Given the description of an element on the screen output the (x, y) to click on. 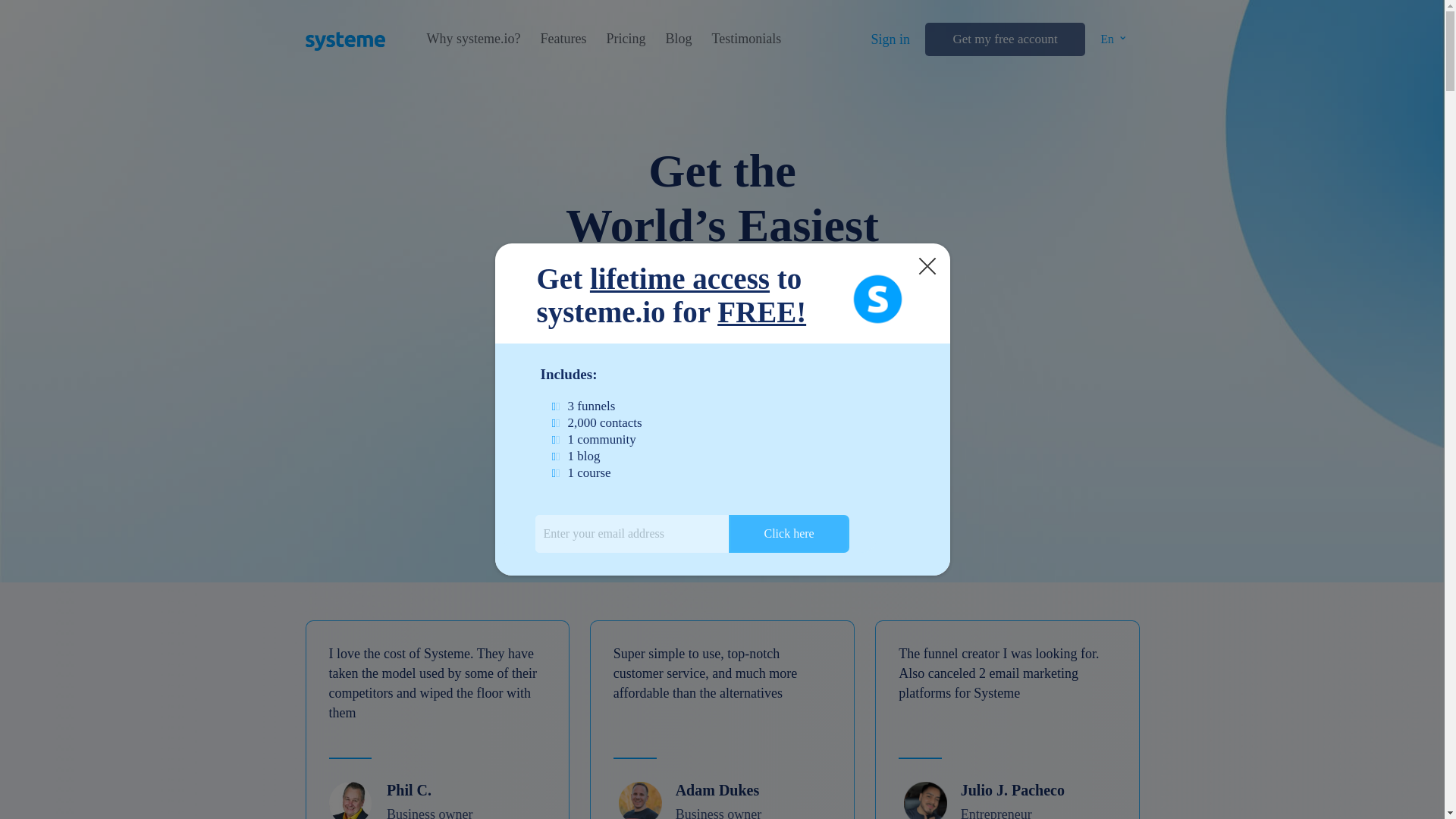
Get my free account (1004, 39)
Pricing (625, 38)
Testimonials (745, 38)
Features (563, 38)
Blog (678, 38)
Sign in (890, 39)
Why systeme.io? (472, 38)
